Given the description of an element on the screen output the (x, y) to click on. 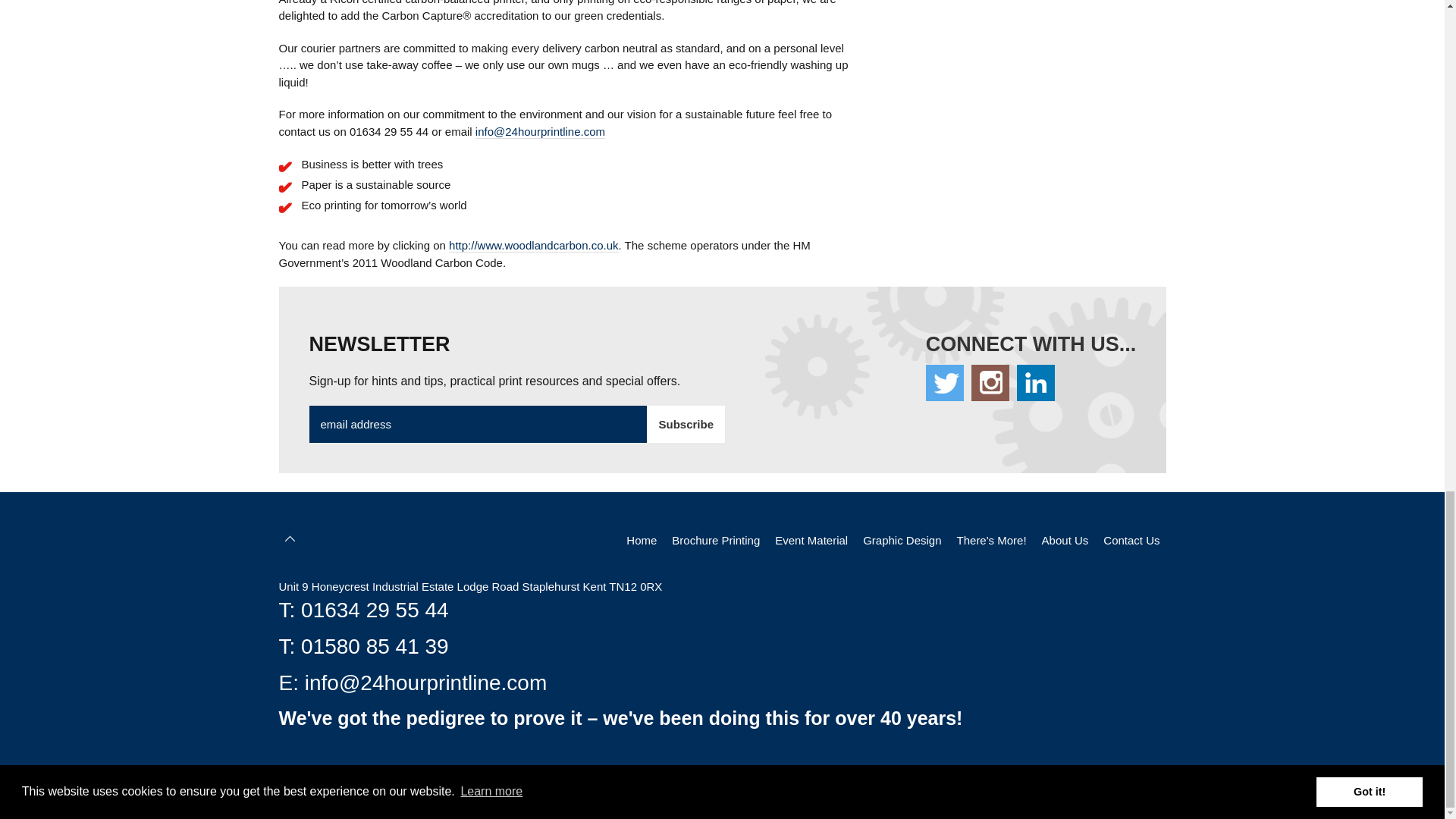
Subscribe (685, 424)
